Given the description of an element on the screen output the (x, y) to click on. 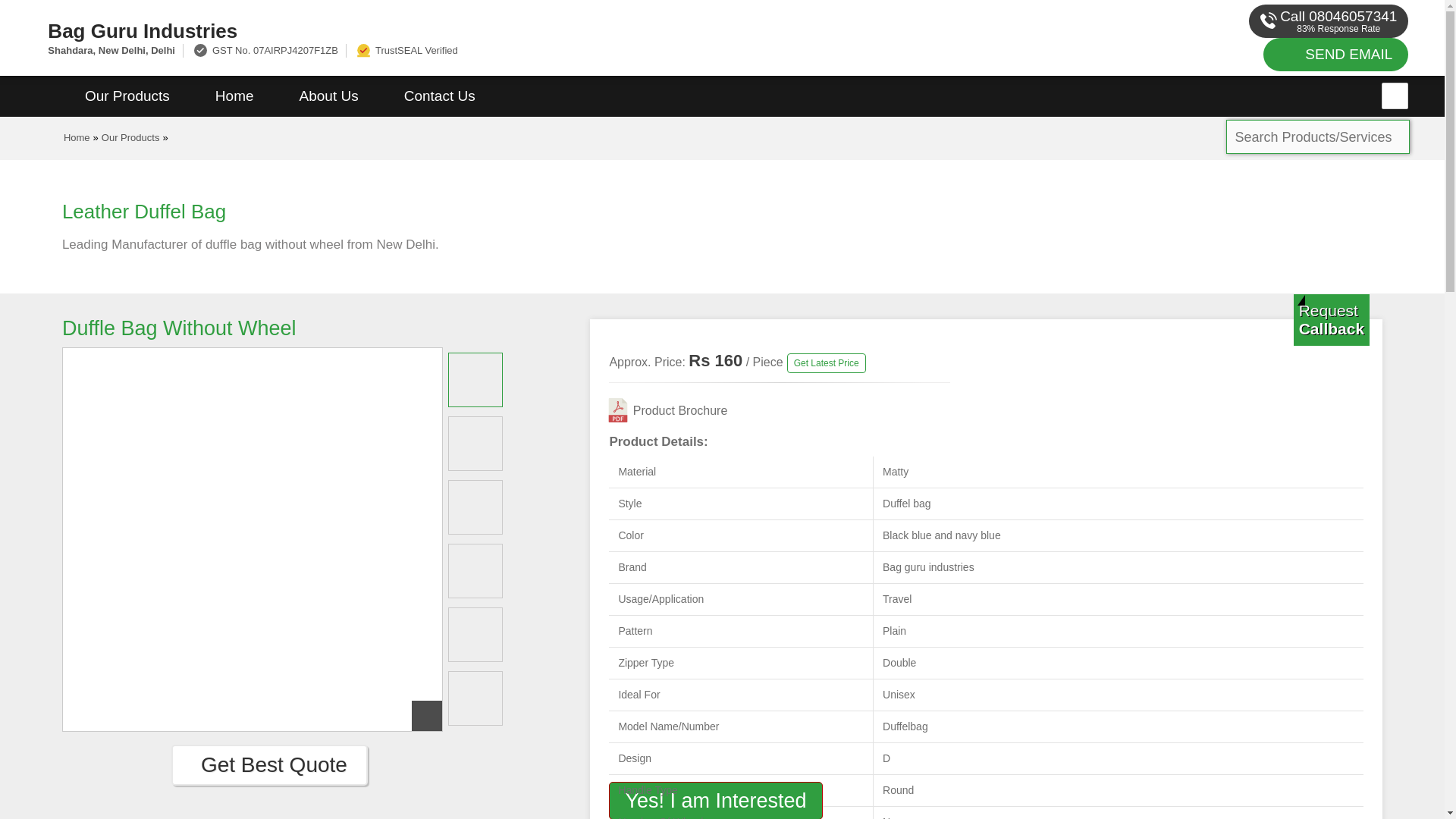
Bag Guru Industries (485, 31)
Get a Call from us (1332, 319)
Our Products (127, 96)
Home (234, 96)
